Given the description of an element on the screen output the (x, y) to click on. 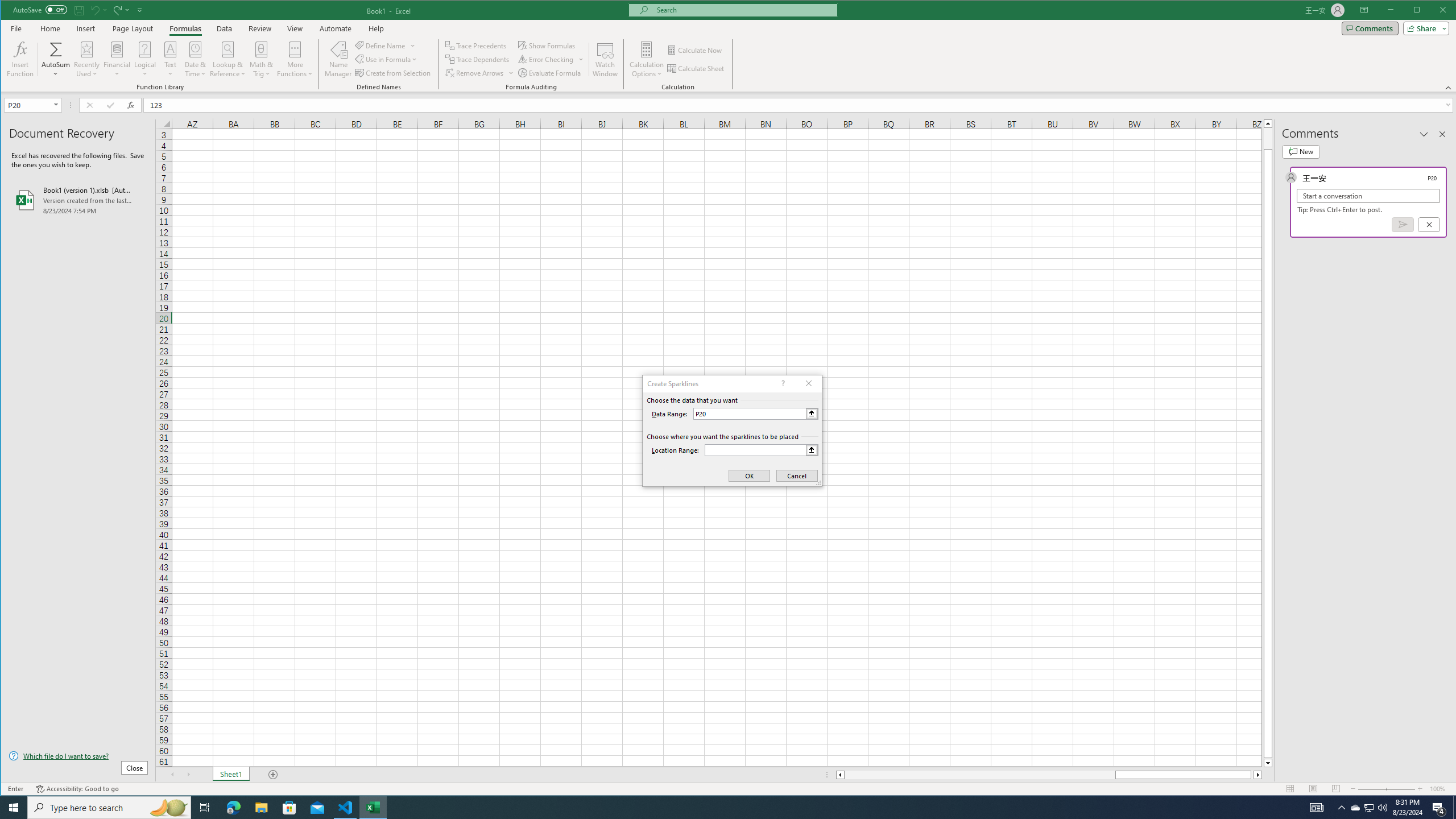
Use in Formula (386, 59)
Close pane (1441, 133)
Zoom Out (1372, 788)
Math & Trig (261, 59)
Logical (144, 59)
Name Manager (338, 59)
Book1 (version 1).xlsb  [AutoRecovered] (78, 199)
Scroll Left (172, 774)
Task Pane Options (1423, 133)
Define Name (385, 45)
Home (50, 28)
Calculate Sheet (696, 68)
Date & Time (195, 59)
Minimize (1419, 11)
